Given the description of an element on the screen output the (x, y) to click on. 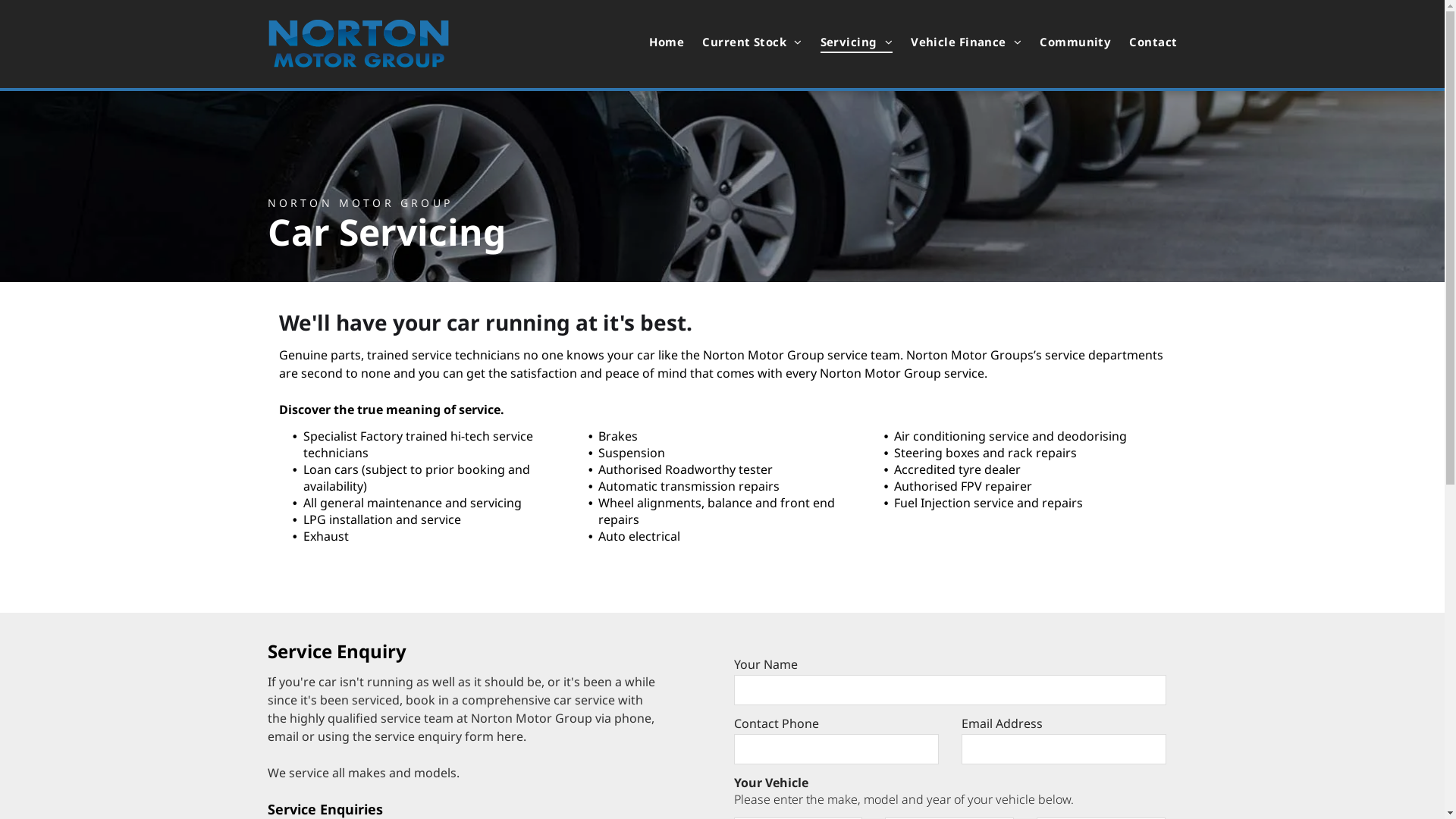
Contact Element type: text (1143, 41)
Back to home Element type: hover (357, 43)
Vehicle Finance Element type: text (956, 41)
Community Element type: text (1065, 41)
Servicing Element type: text (847, 41)
Home Element type: text (657, 41)
Current Stock Element type: text (742, 41)
